Given the description of an element on the screen output the (x, y) to click on. 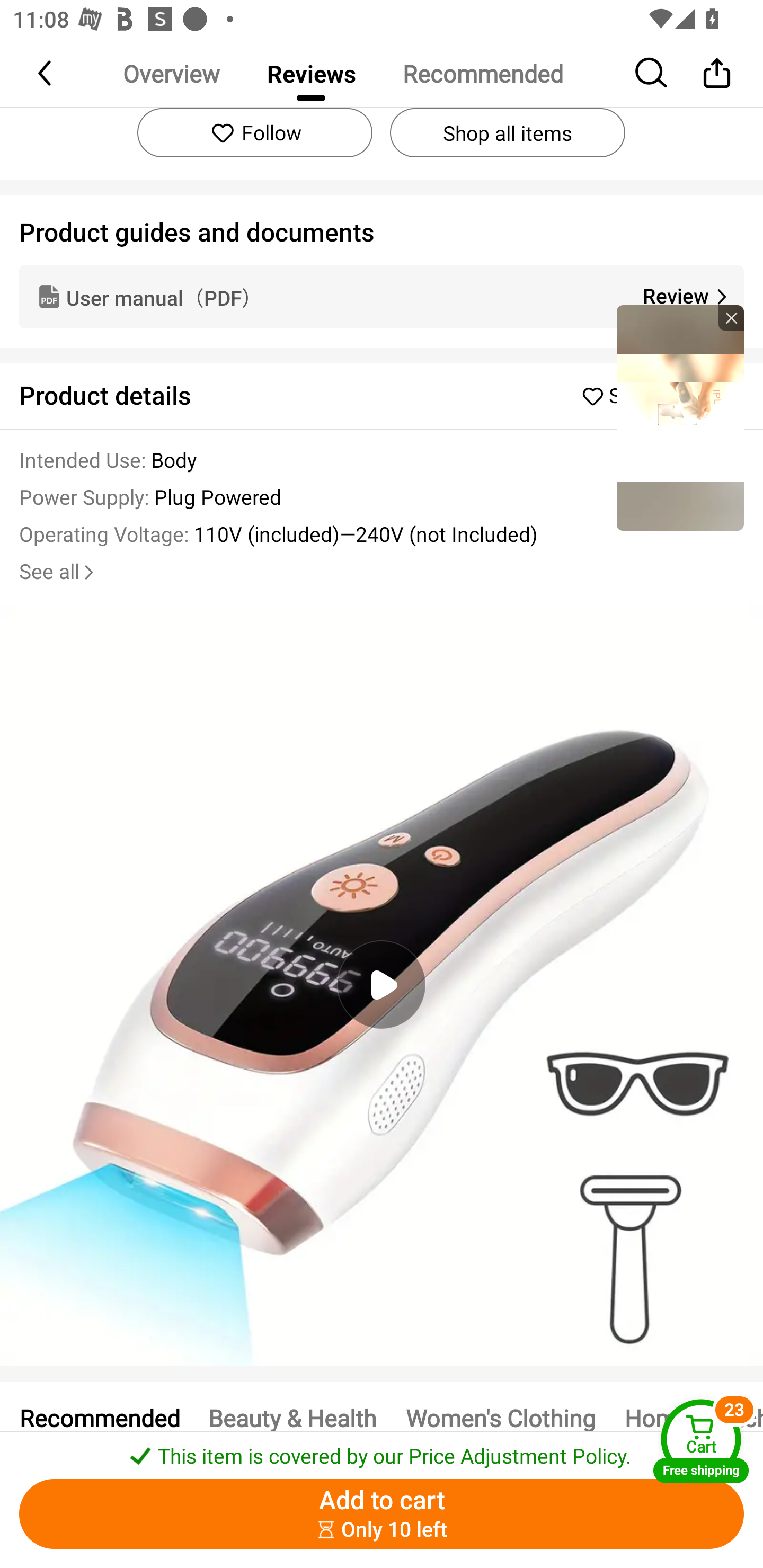
Overview (171, 72)
Reviews (311, 72)
Recommended (482, 72)
Back (46, 72)
Share (716, 72)
  Follow (254, 132)
Shop all items (506, 132)
User manual（PDF） Review (381, 295)
tronplayer_view (680, 417)
See all  (58, 571)
tronplayer_view 0.0 (381, 984)
Recommended (98, 1417)
Beauty & Health (291, 1417)
Women's Clothing (499, 1417)
Cart Free shipping Cart (701, 1440)
Add to cart ￼￼Only 10 left (381, 1513)
